Given the description of an element on the screen output the (x, y) to click on. 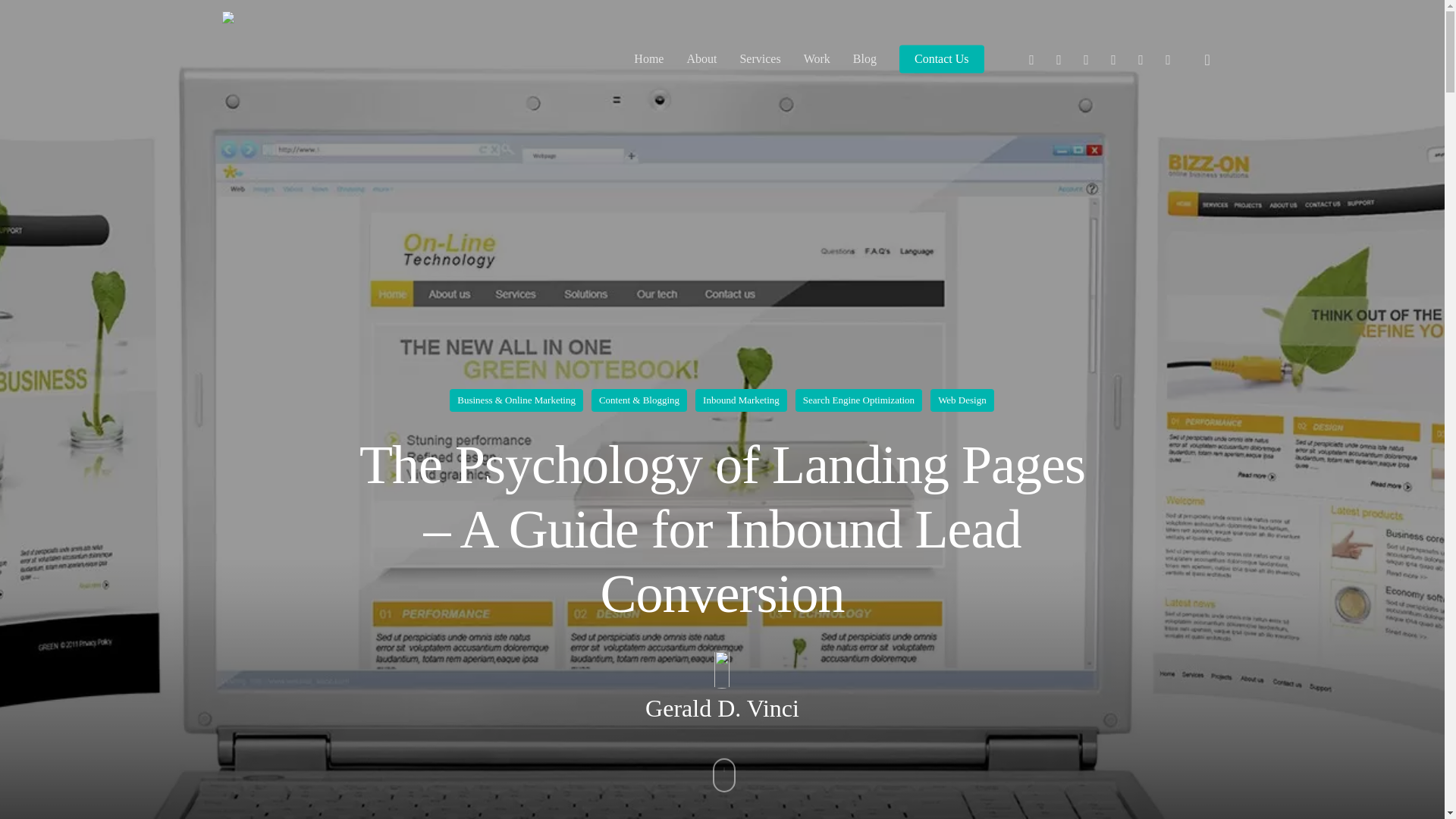
Services (759, 59)
Posts by Gerald D. Vinci (722, 708)
Web Design (962, 400)
Blog (864, 59)
Gerald D. Vinci (722, 708)
Home (648, 59)
Search Engine Optimization (857, 400)
Work (816, 59)
Contact Us (941, 59)
About (700, 59)
Inbound Marketing (741, 400)
